Given the description of an element on the screen output the (x, y) to click on. 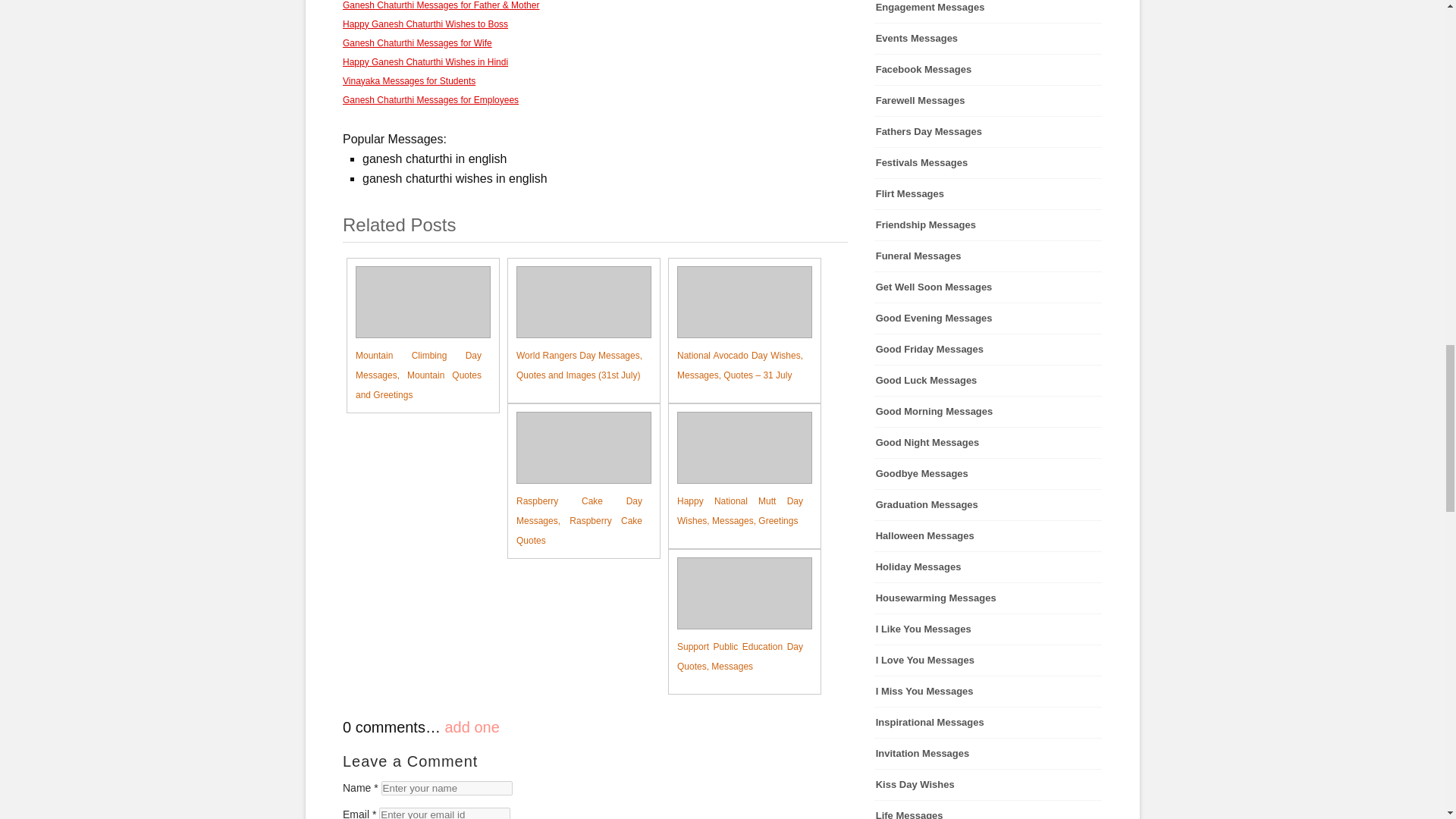
Vinayaka Messages for Students (409, 81)
Happy Ganesh Chaturthi Wishes in Hindi (425, 61)
Ganesh Chaturthi Messages for Employees (430, 100)
Happy National Mutt Day Wishes, Messages, Greetings (735, 470)
Raspberry Cake Day Messages, Raspberry Cake Quotes (575, 480)
add one (471, 727)
Support Public Education Day Quotes, Messages (735, 616)
Support Public Education Day Quotes, Messages (735, 616)
Ganesh Chaturthi Messages for Wife (417, 42)
Happy Ganesh Chaturthi Wishes to Boss (425, 23)
Raspberry Cake Day Messages, Raspberry Cake Quotes (575, 480)
Happy National Mutt Day Wishes, Messages, Greetings (735, 470)
